Given the description of an element on the screen output the (x, y) to click on. 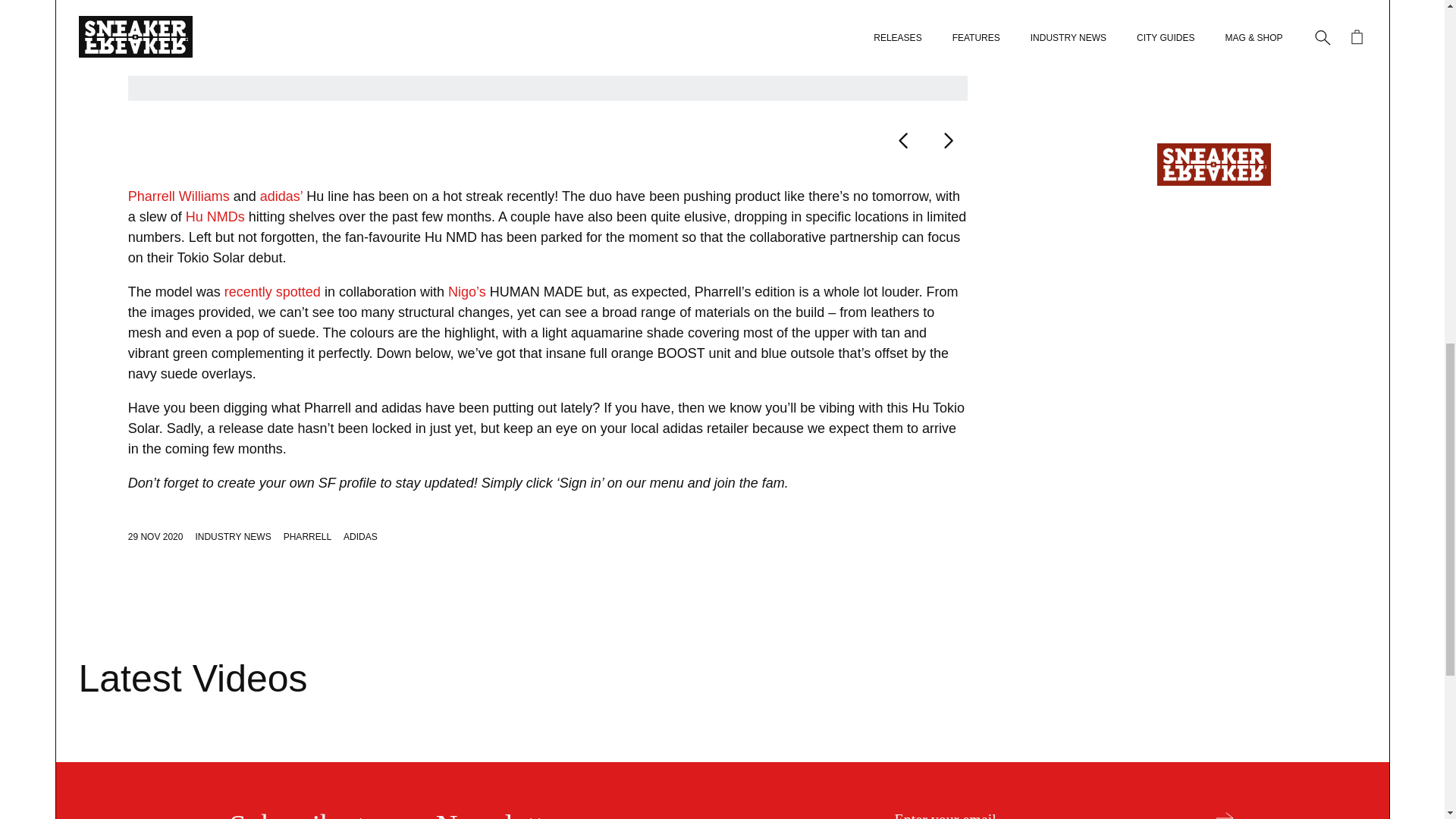
PHARRELL (307, 536)
recently spotted (272, 291)
ADIDAS (360, 536)
INDUSTRY NEWS (232, 536)
Hu NMDs (215, 216)
Pharrell Williams (179, 196)
